Given the description of an element on the screen output the (x, y) to click on. 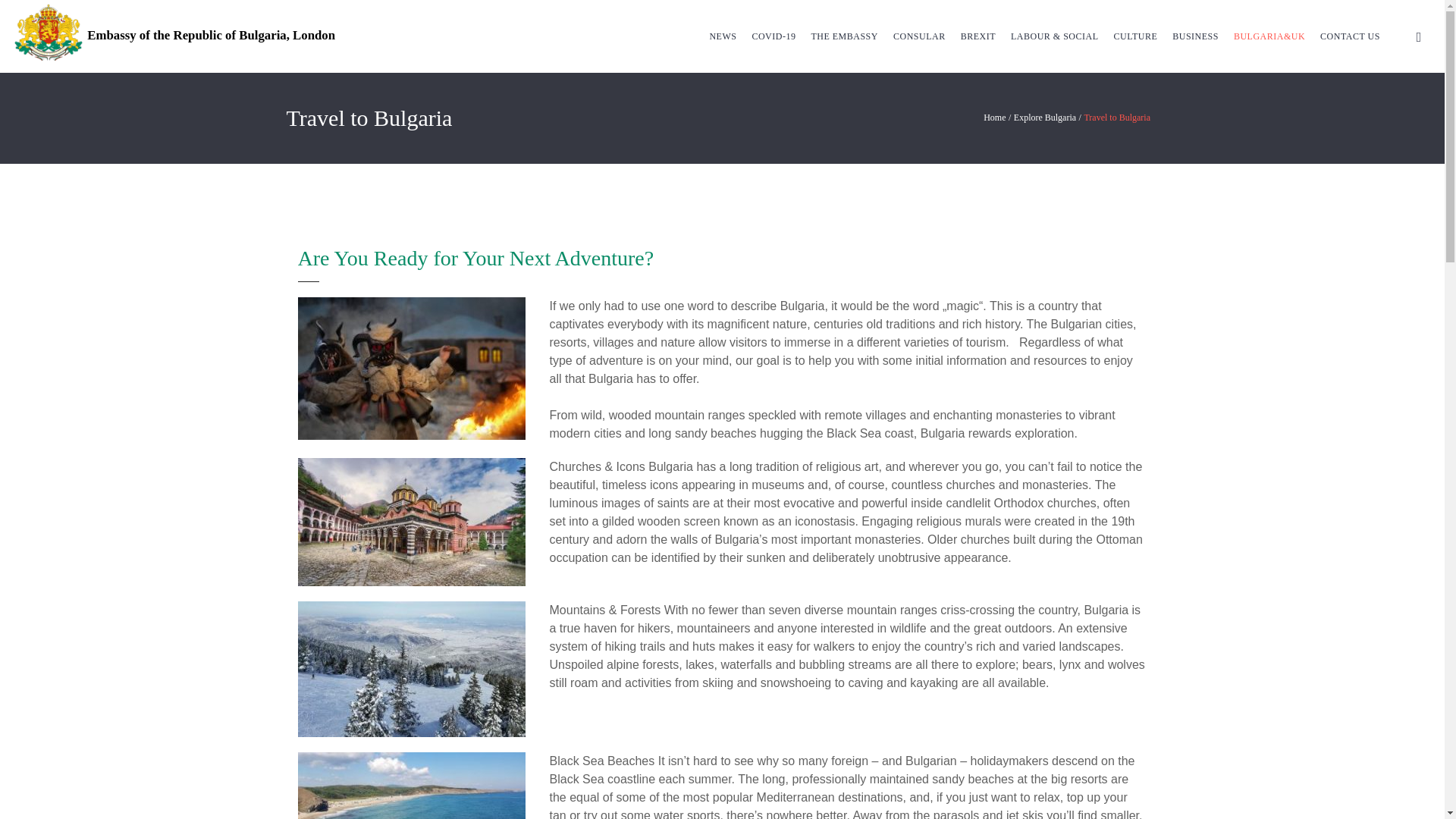
THE EMBASSY (844, 36)
CONTACT US (1350, 36)
Embassy of the Republic of Bulgaria, London (174, 32)
